Given the description of an element on the screen output the (x, y) to click on. 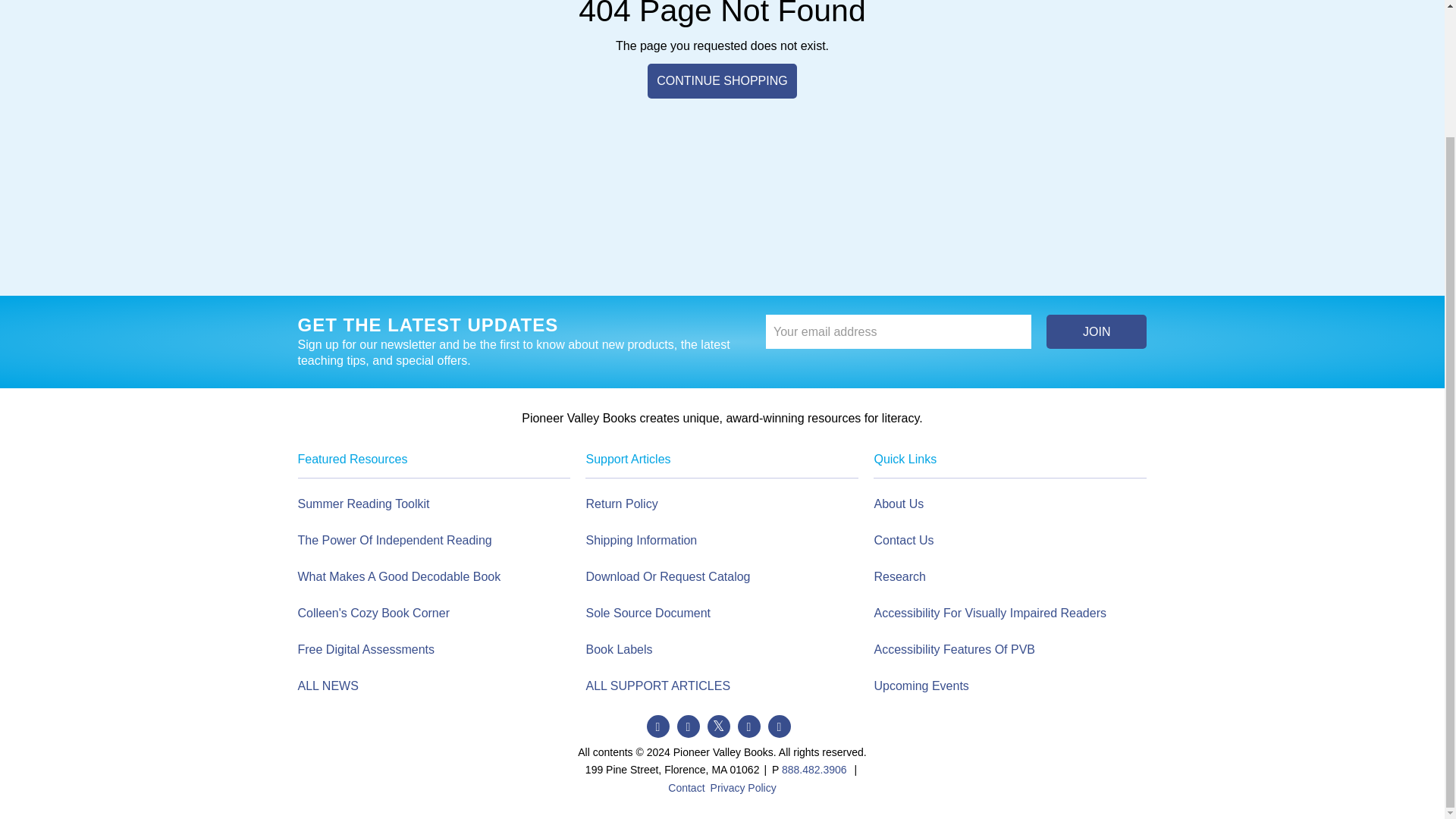
Opens a widget where you can find more information (1387, 638)
